Given the description of an element on the screen output the (x, y) to click on. 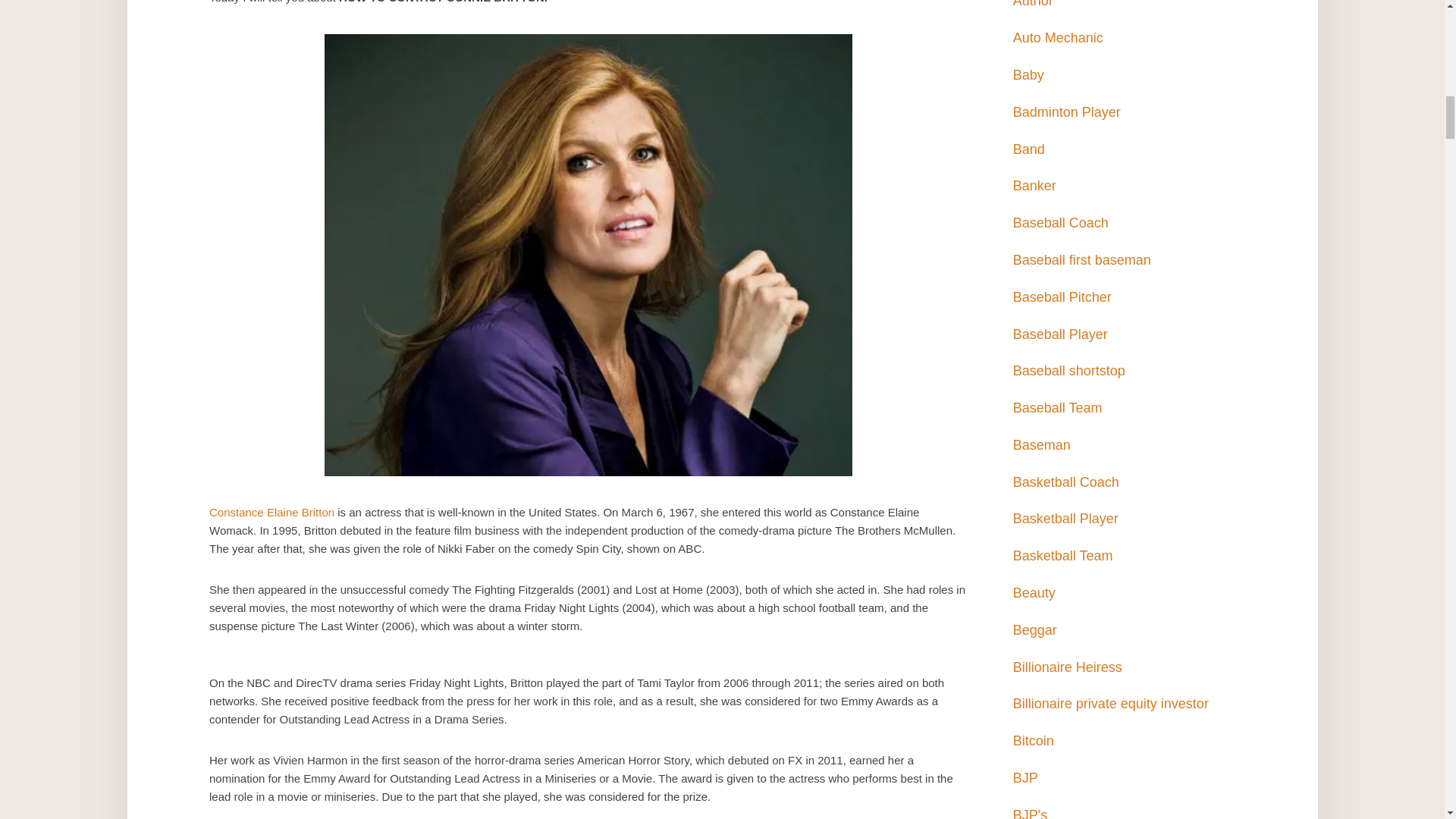
Constance Elaine Britton (271, 512)
